Given the description of an element on the screen output the (x, y) to click on. 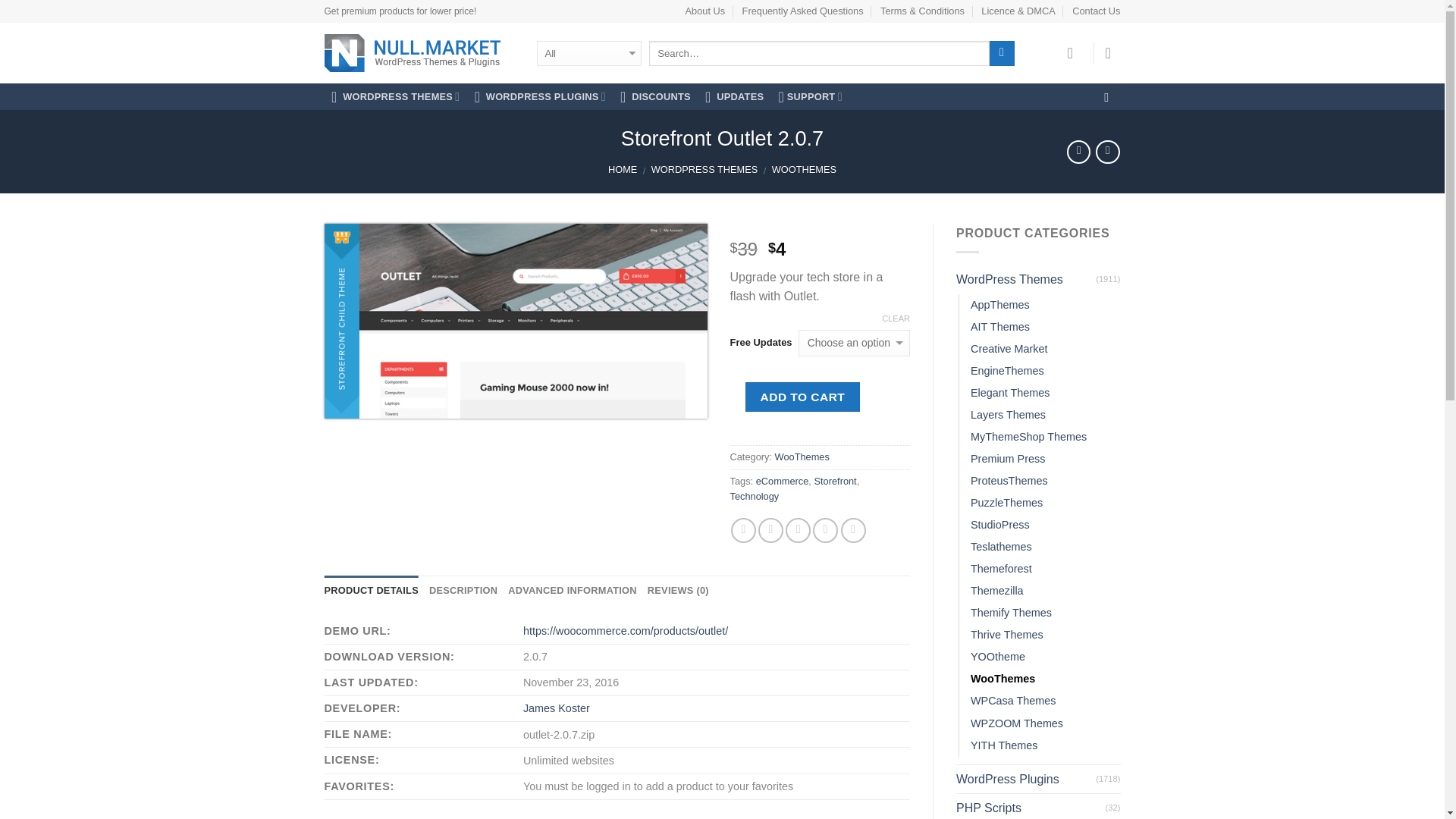
Email to a Friend (798, 529)
Share on Facebook (742, 529)
Null Market - Premium Templates and Scripts (418, 53)
Frequently Asked Questions (802, 11)
storefront-outlet (515, 320)
Share on VKontakte (853, 529)
Contact Us (1095, 11)
  WORDPRESS THEMES (395, 96)
Send us an email (1109, 97)
